Given the description of an element on the screen output the (x, y) to click on. 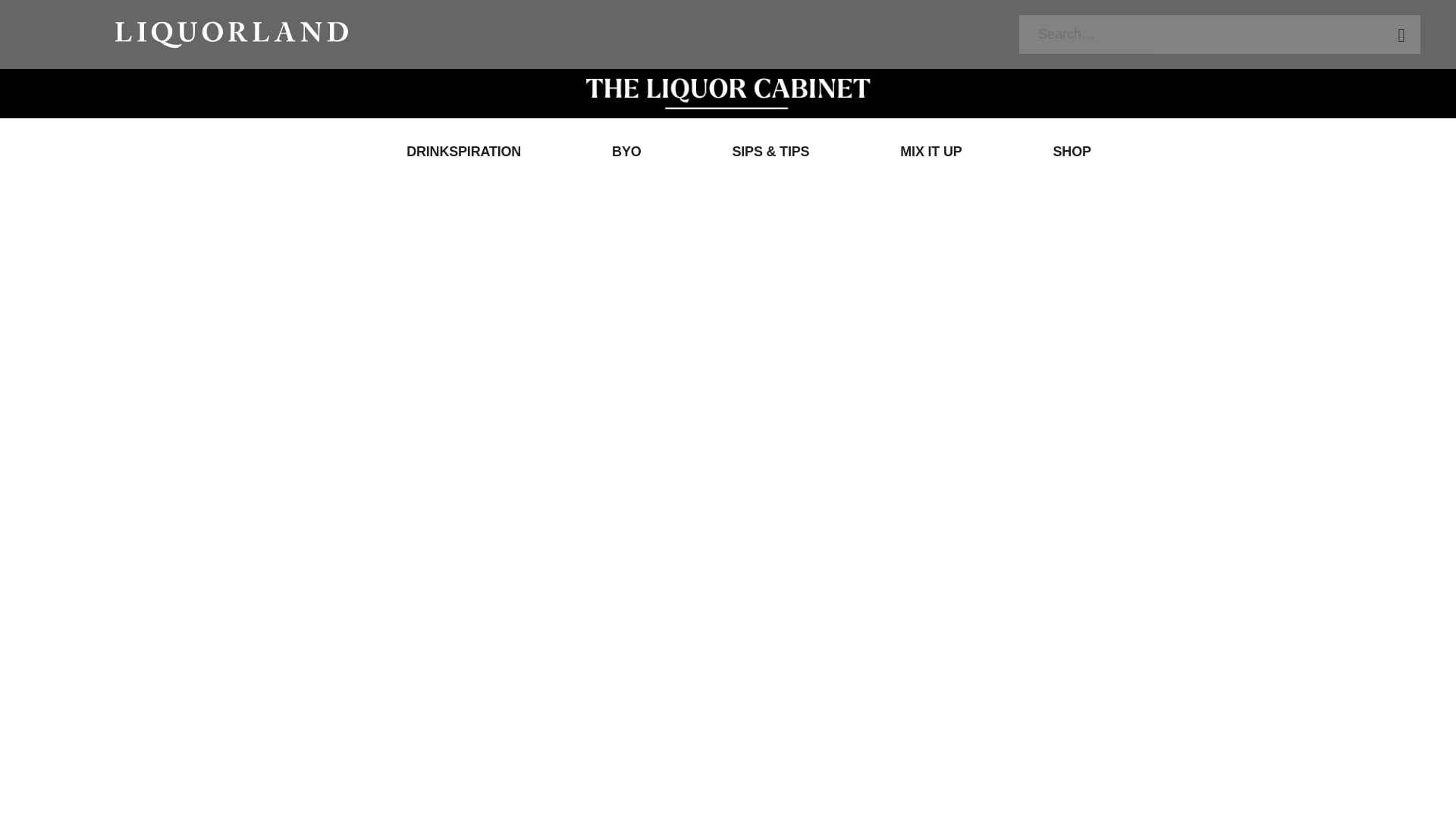
BYO (605, 151)
DRINKSPIRATION (442, 151)
SHOP (1051, 151)
MIX IT UP (909, 151)
